Given the description of an element on the screen output the (x, y) to click on. 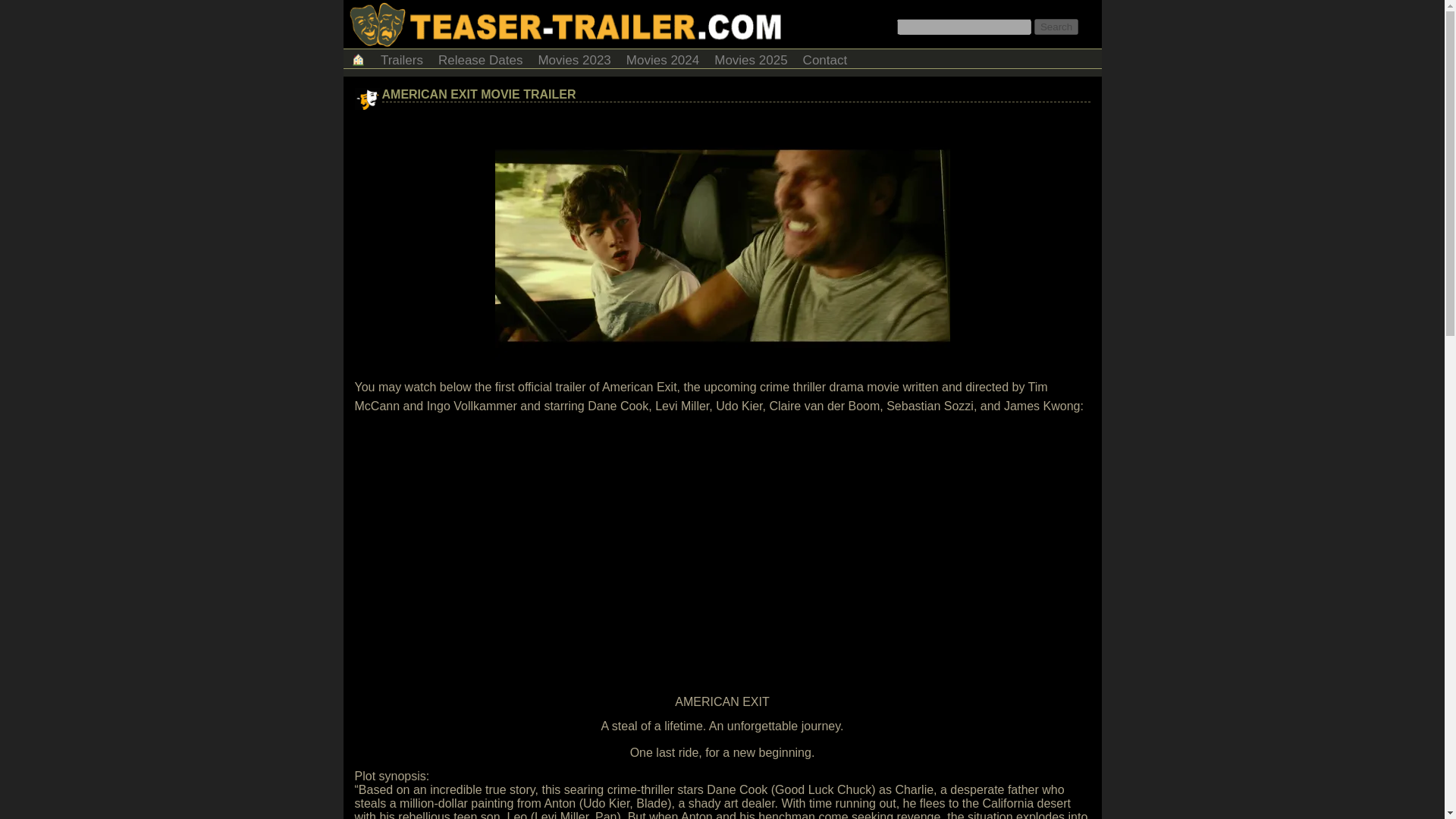
AMERICAN EXIT MOVIE TRAILER (478, 93)
Home (357, 58)
Movies 2024 (662, 58)
Trailers (401, 58)
Search (1055, 26)
Contact (825, 58)
Search (1055, 26)
Movies 2023 (573, 58)
Release Dates (480, 58)
Movies 2025 (750, 58)
